Given the description of an element on the screen output the (x, y) to click on. 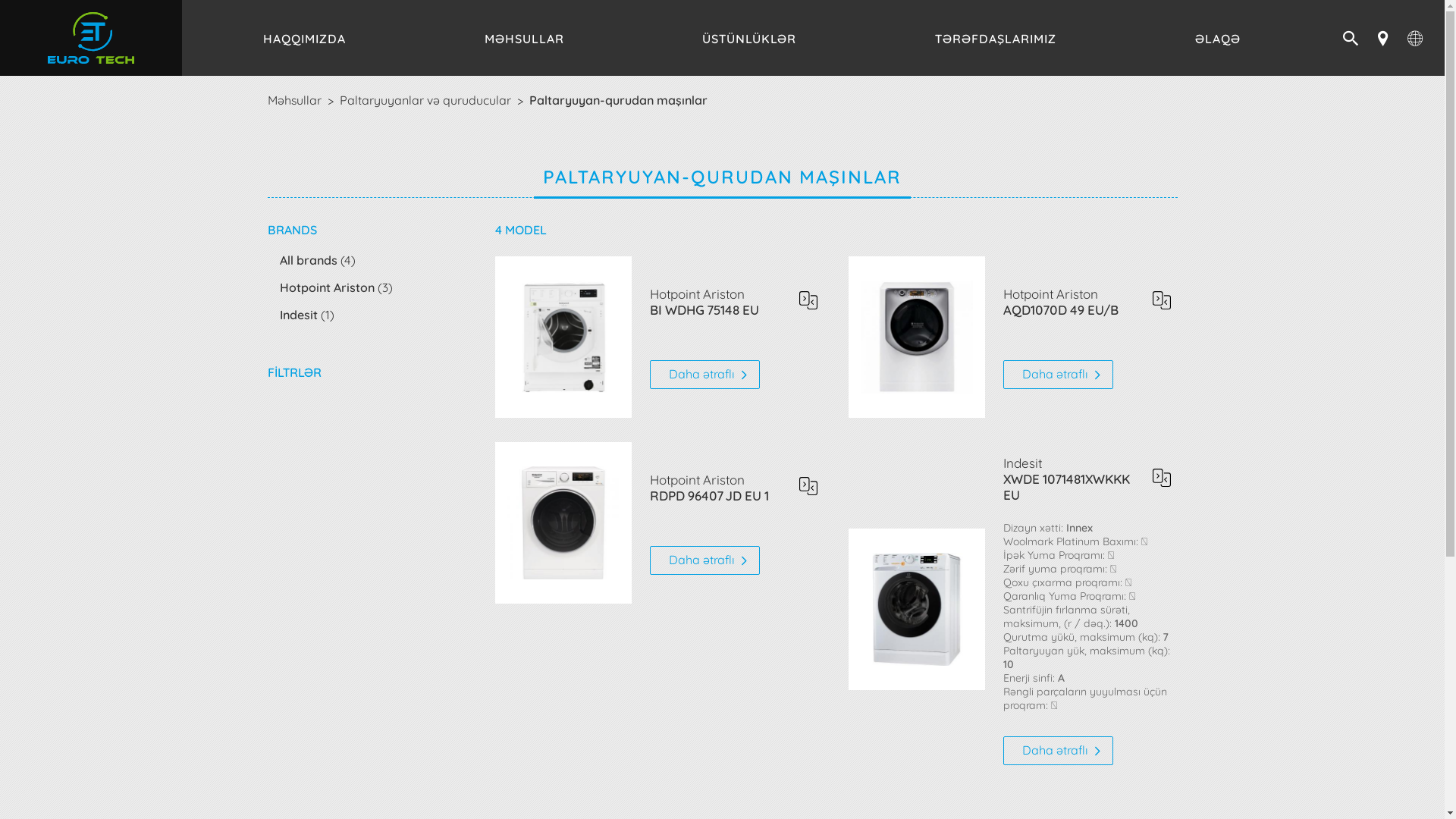
All brands (4) Element type: text (316, 259)
Hotpoint Ariston (3) Element type: text (335, 286)
HAQQIMIZDA Element type: text (304, 37)
Indesit (1) Element type: text (306, 313)
